Given the description of an element on the screen output the (x, y) to click on. 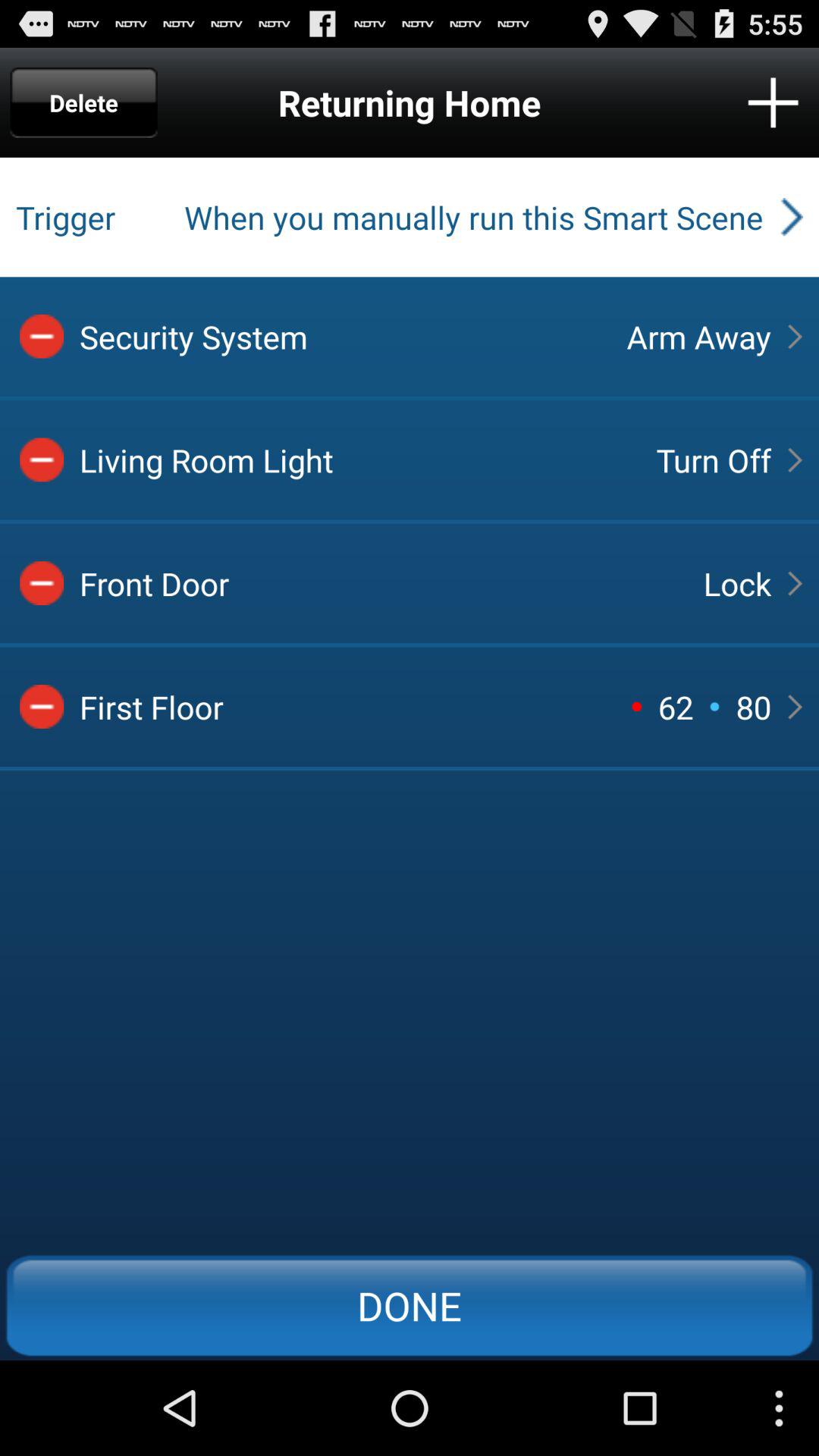
delete item (41, 336)
